Given the description of an element on the screen output the (x, y) to click on. 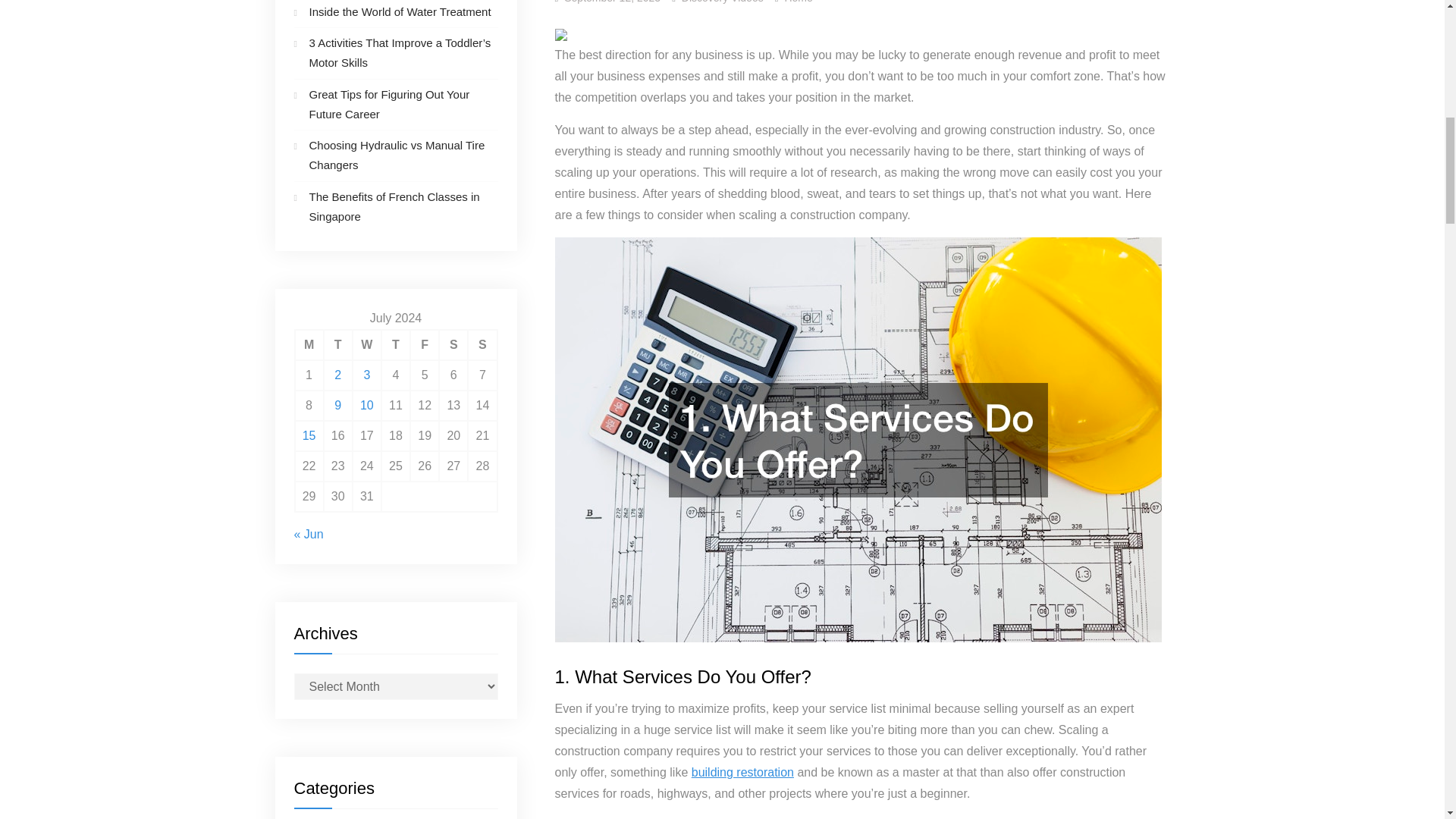
The Benefits of French Classes in Singapore (394, 205)
Great Tips for Figuring Out Your Future Career (389, 103)
10 (366, 404)
Friday (424, 345)
Choosing Hydraulic vs Manual Tire Changers (396, 154)
September 12, 2023 (612, 2)
Tuesday (337, 345)
Monday (308, 345)
Home (798, 2)
Sunday (481, 345)
Inside the World of Water Treatment (400, 11)
Discovery Videos (721, 2)
Wednesday (366, 345)
Thursday (395, 345)
building restoration (742, 771)
